Given the description of an element on the screen output the (x, y) to click on. 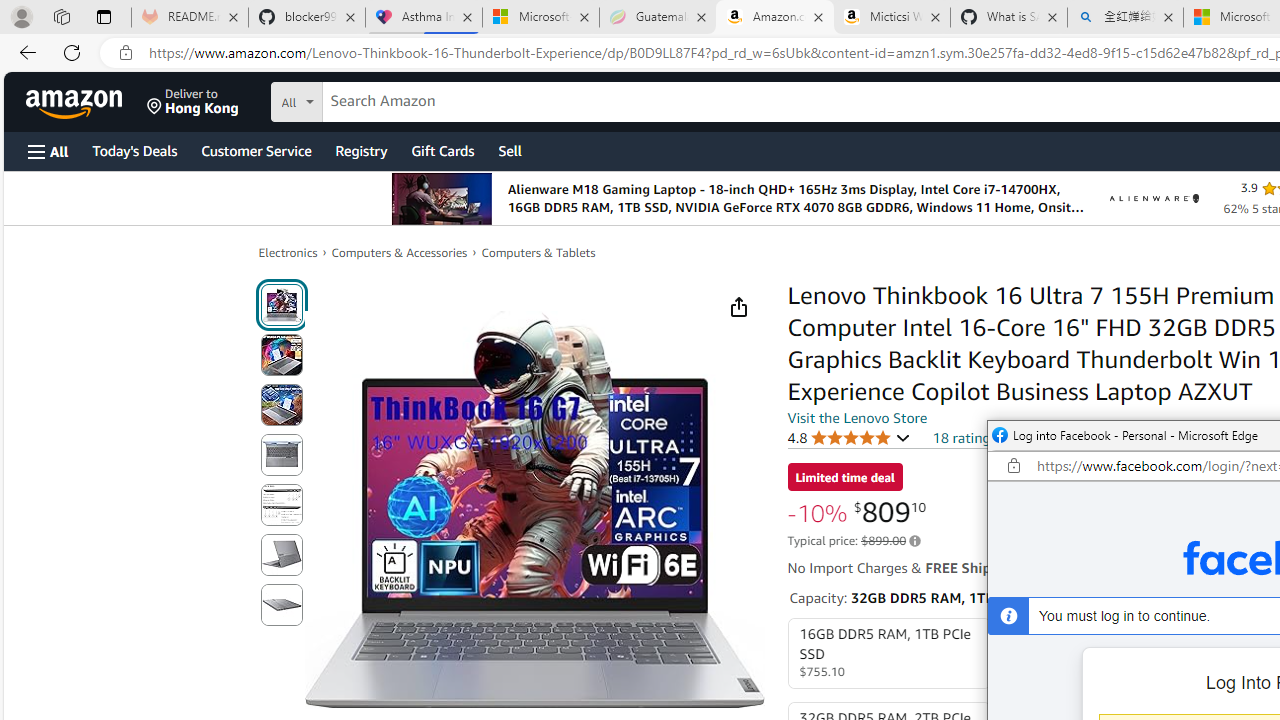
Amazon (76, 101)
Learn more about Amazon pricing and savings (914, 541)
Gift Cards (442, 150)
Computers & Tablets (538, 251)
Customer Service (256, 150)
Electronics (287, 252)
